Given the description of an element on the screen output the (x, y) to click on. 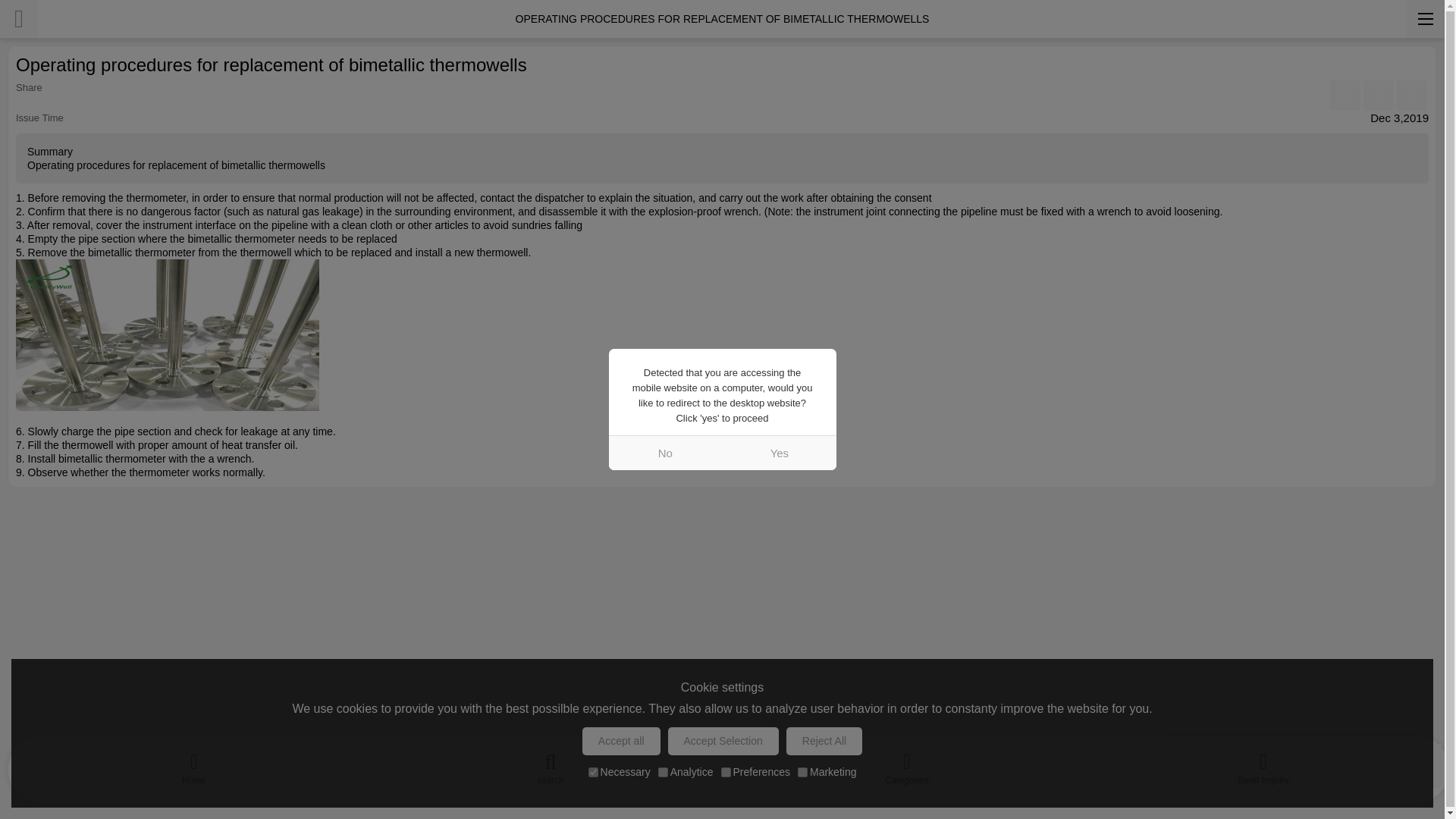
on (593, 772)
Accept Selection (723, 741)
No (665, 452)
Accept all (621, 741)
on (802, 772)
Yes (778, 452)
Share Facebook (1344, 95)
Share Linkedin (1377, 95)
on (663, 772)
Reject All (823, 741)
